Given the description of an element on the screen output the (x, y) to click on. 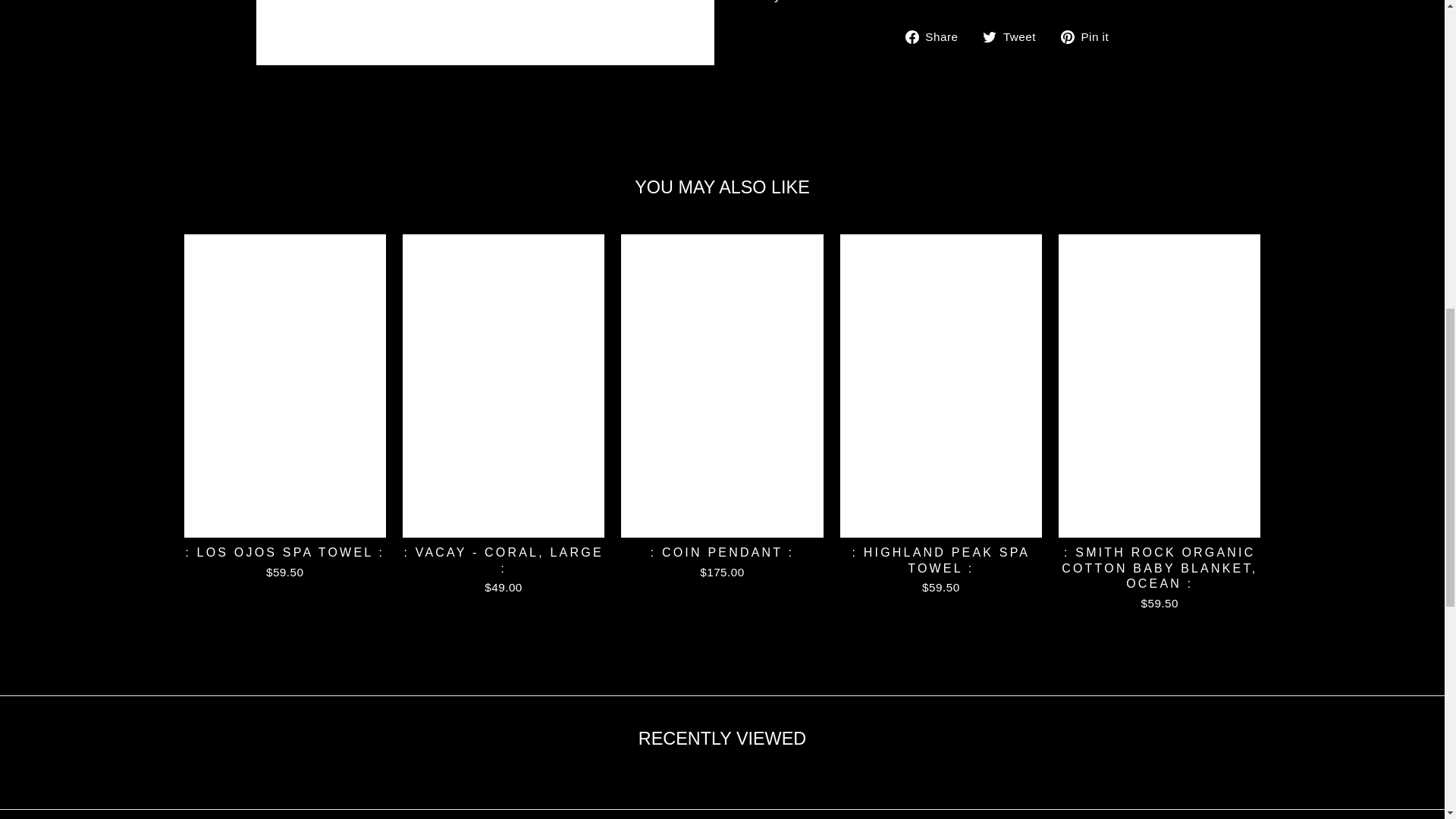
Share on Facebook (937, 36)
Tweet on Twitter (1014, 36)
Pin on Pinterest (1090, 36)
